Given the description of an element on the screen output the (x, y) to click on. 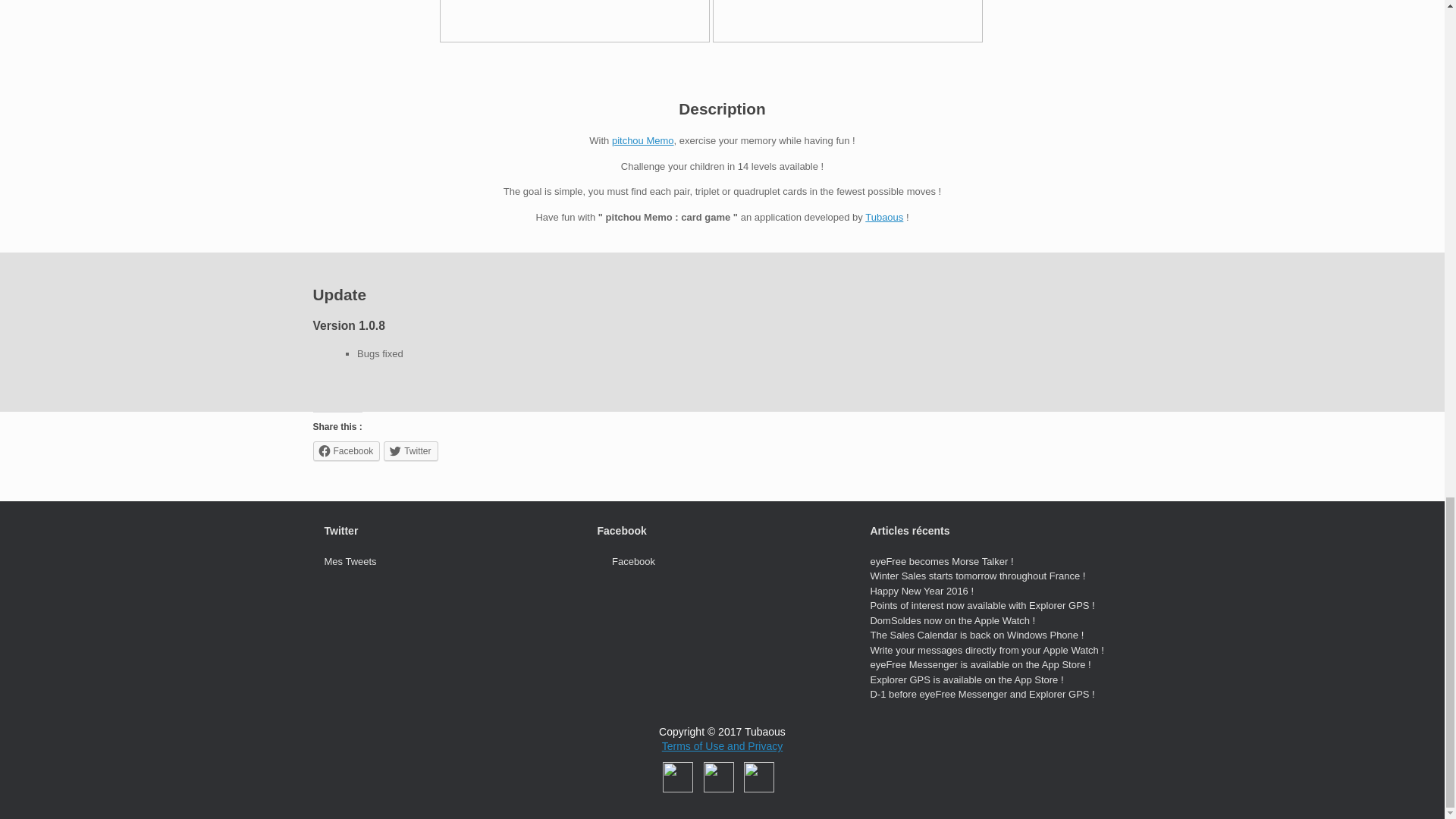
Points of interest now available with Explorer GPS ! (981, 604)
Points of interest now available with Explorer GPS ! (981, 604)
Write your messages directly from your Apple Watch ! (986, 650)
Screenshot 1 - pitchou Memory (574, 21)
The Sales Calendar is back on Windows Phone ! (976, 634)
Cliquez pour partager sur Facebook (346, 451)
DomSoldes now on the Apple Watch ! (952, 620)
DomSoldes now on the Apple Watch ! (952, 620)
Twitter (411, 451)
eyeFree becomes Morse Talker ! (941, 561)
